Given the description of an element on the screen output the (x, y) to click on. 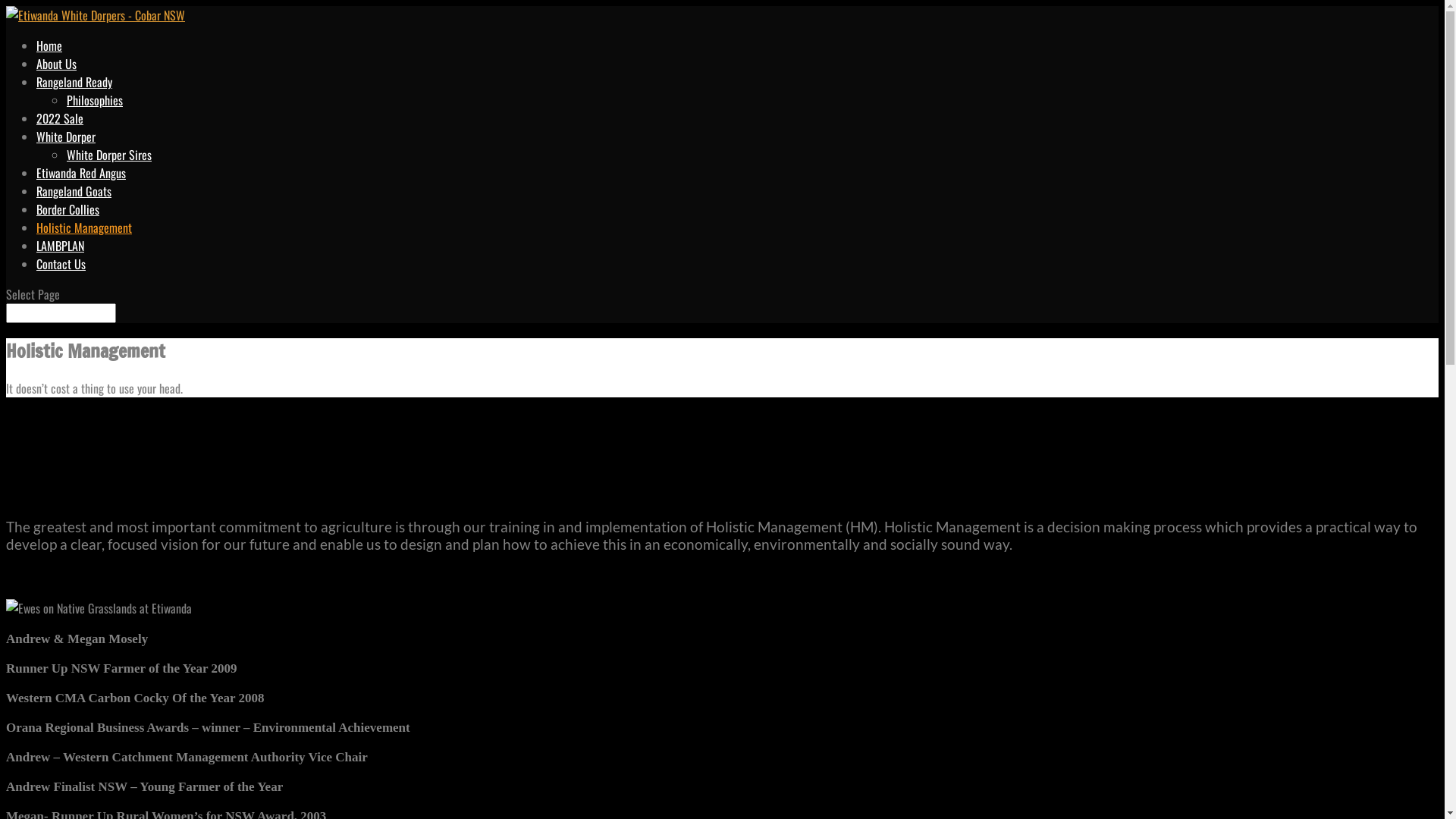
Etiwanda Red Angus Element type: text (80, 172)
Philosophies Element type: text (94, 100)
White Dorper Sires Element type: text (108, 154)
Rangeland Ready Element type: text (74, 81)
About Us Element type: text (56, 63)
Home Element type: text (49, 45)
2022 Sale Element type: text (59, 118)
Search for: Element type: hover (61, 313)
LAMBPLAN Element type: text (60, 245)
Contact Us Element type: text (60, 263)
White Dorper Element type: text (65, 136)
Rangeland Goats Element type: text (73, 191)
Border Collies Element type: text (67, 209)
Holistic Management Element type: text (83, 227)
Ewes on Native Grasslands at Etiwanda  Element type: hover (98, 608)
